Given the description of an element on the screen output the (x, y) to click on. 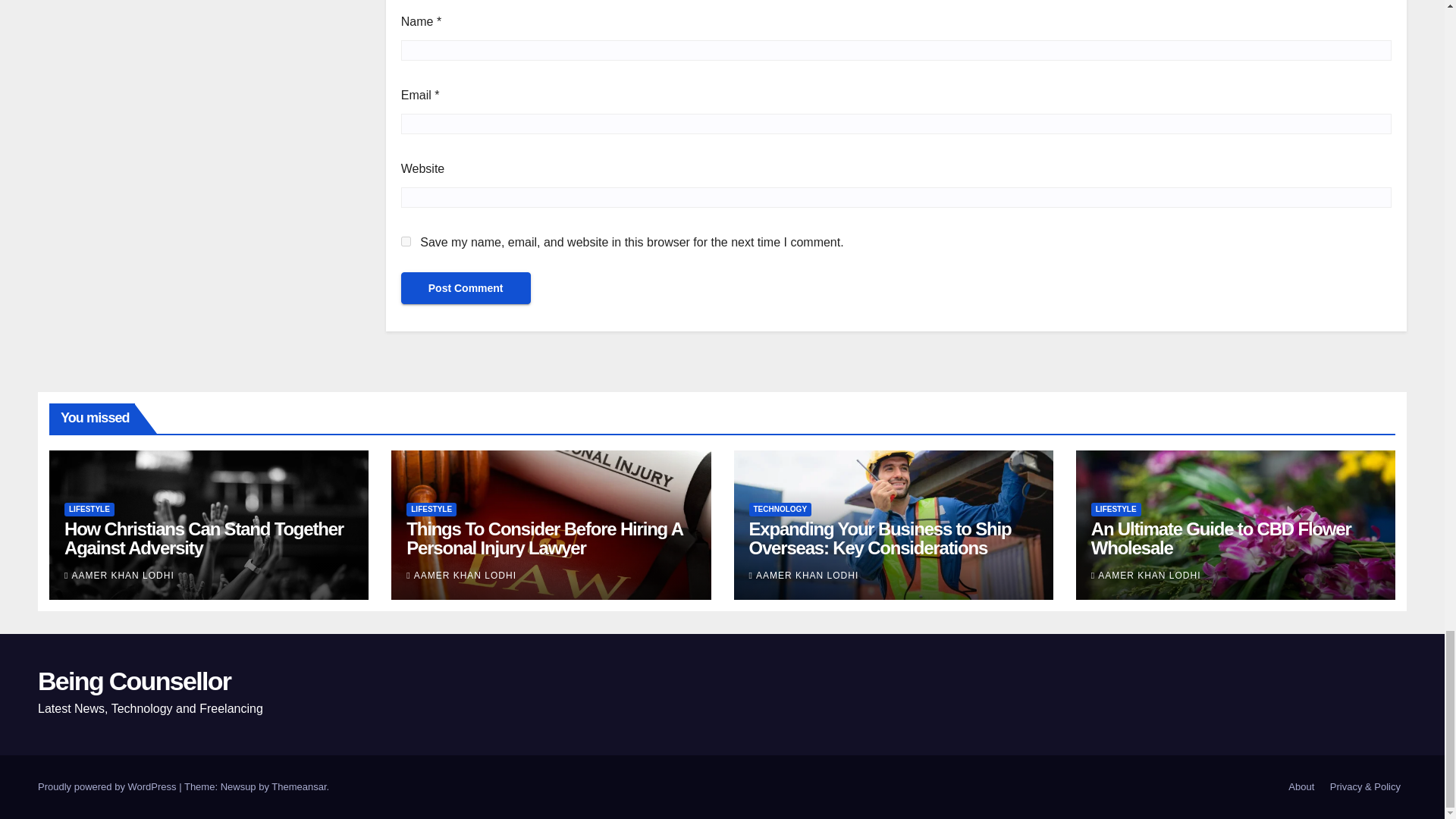
Post Comment (466, 287)
yes (405, 241)
